Given the description of an element on the screen output the (x, y) to click on. 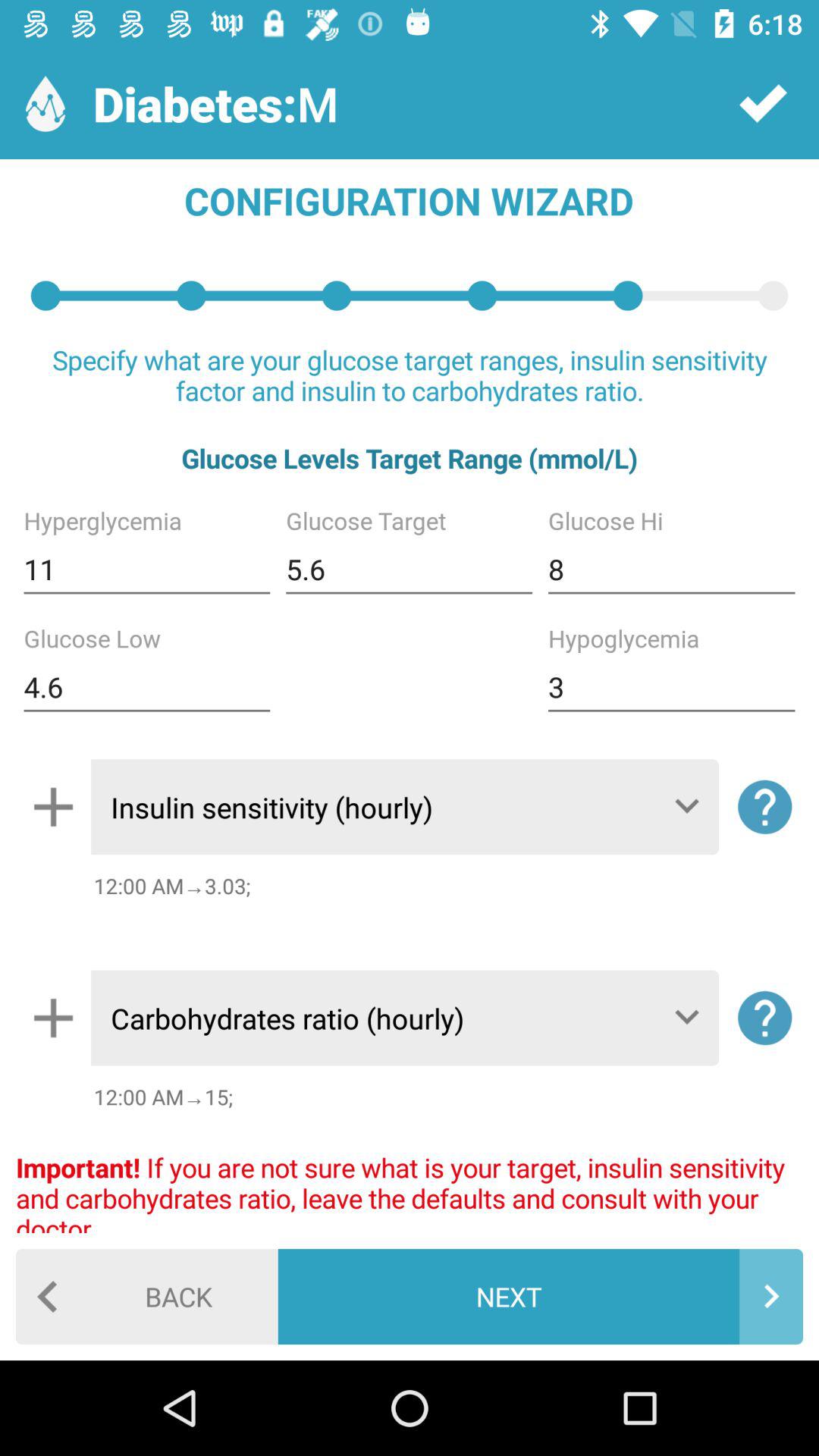
flip to the 11 item (146, 569)
